Given the description of an element on the screen output the (x, y) to click on. 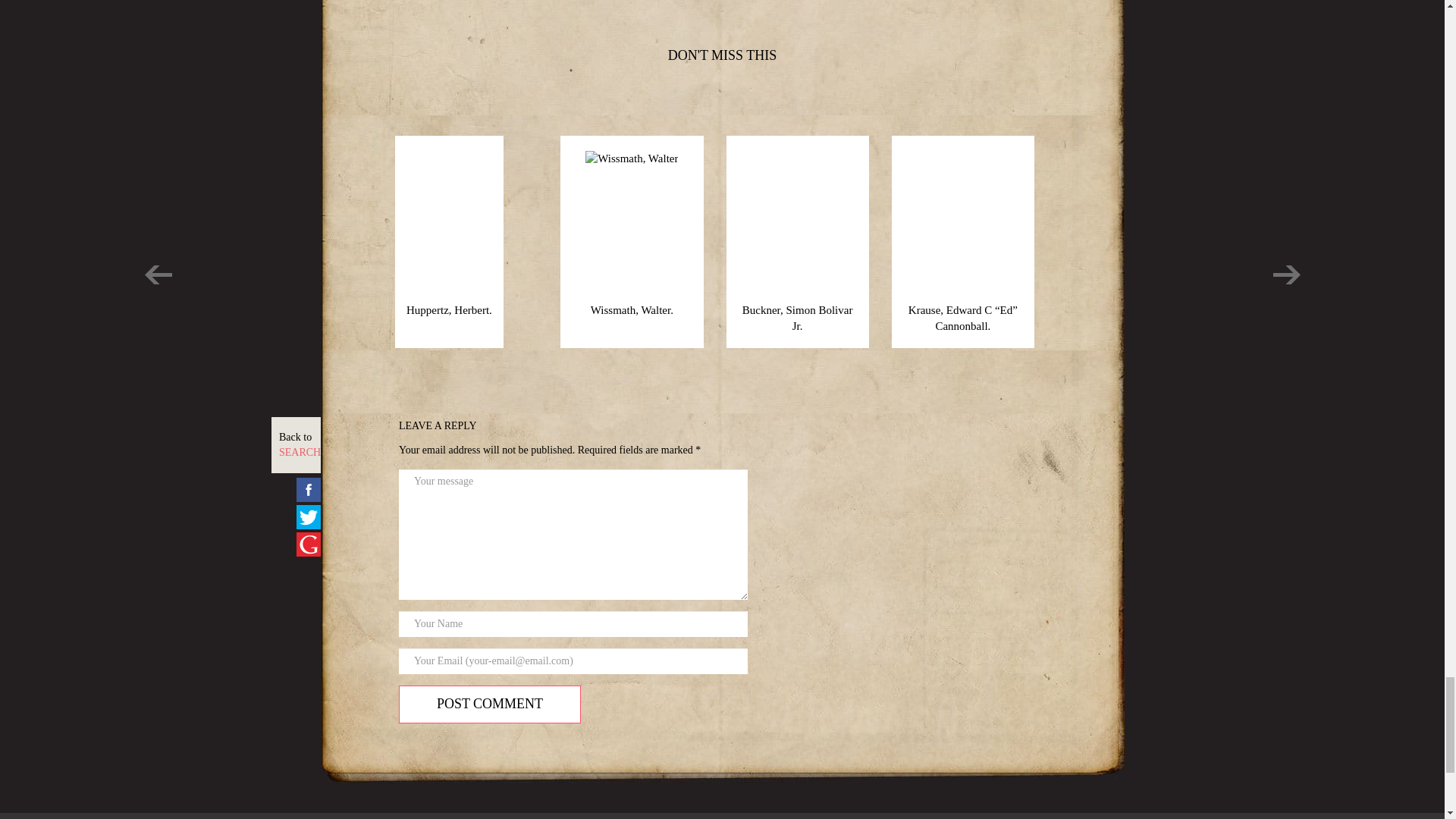
Post Comment (489, 704)
